Given the description of an element on the screen output the (x, y) to click on. 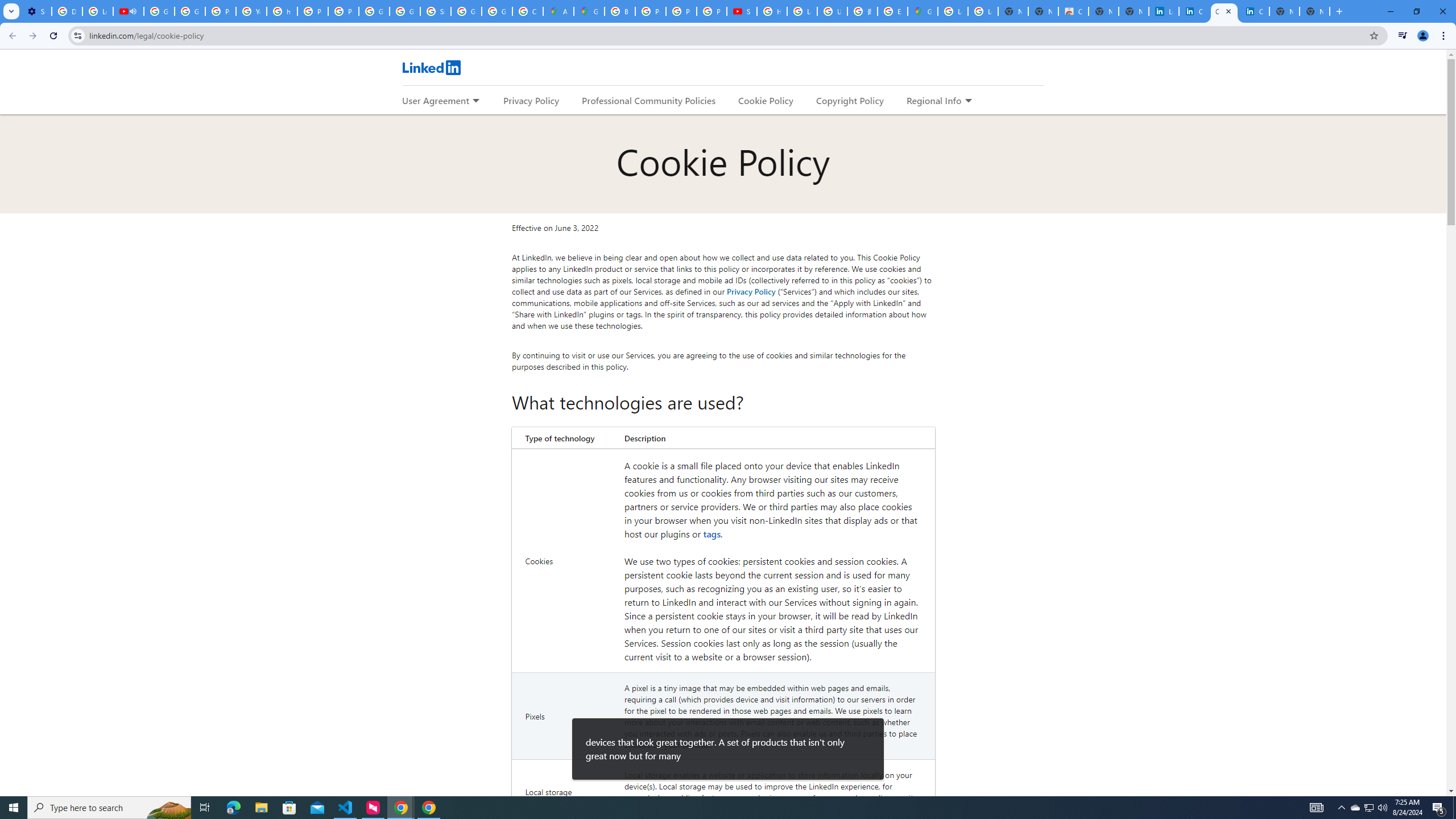
User Agreement (434, 100)
LinkedIn Login, Sign in | LinkedIn (1163, 11)
Copyright Policy (849, 100)
Cookie Policy (765, 100)
Google Account Help (189, 11)
Expand to show more links for User Agreement (475, 101)
Privacy Help Center - Policies Help (220, 11)
Sign in - Google Accounts (434, 11)
